Given the description of an element on the screen output the (x, y) to click on. 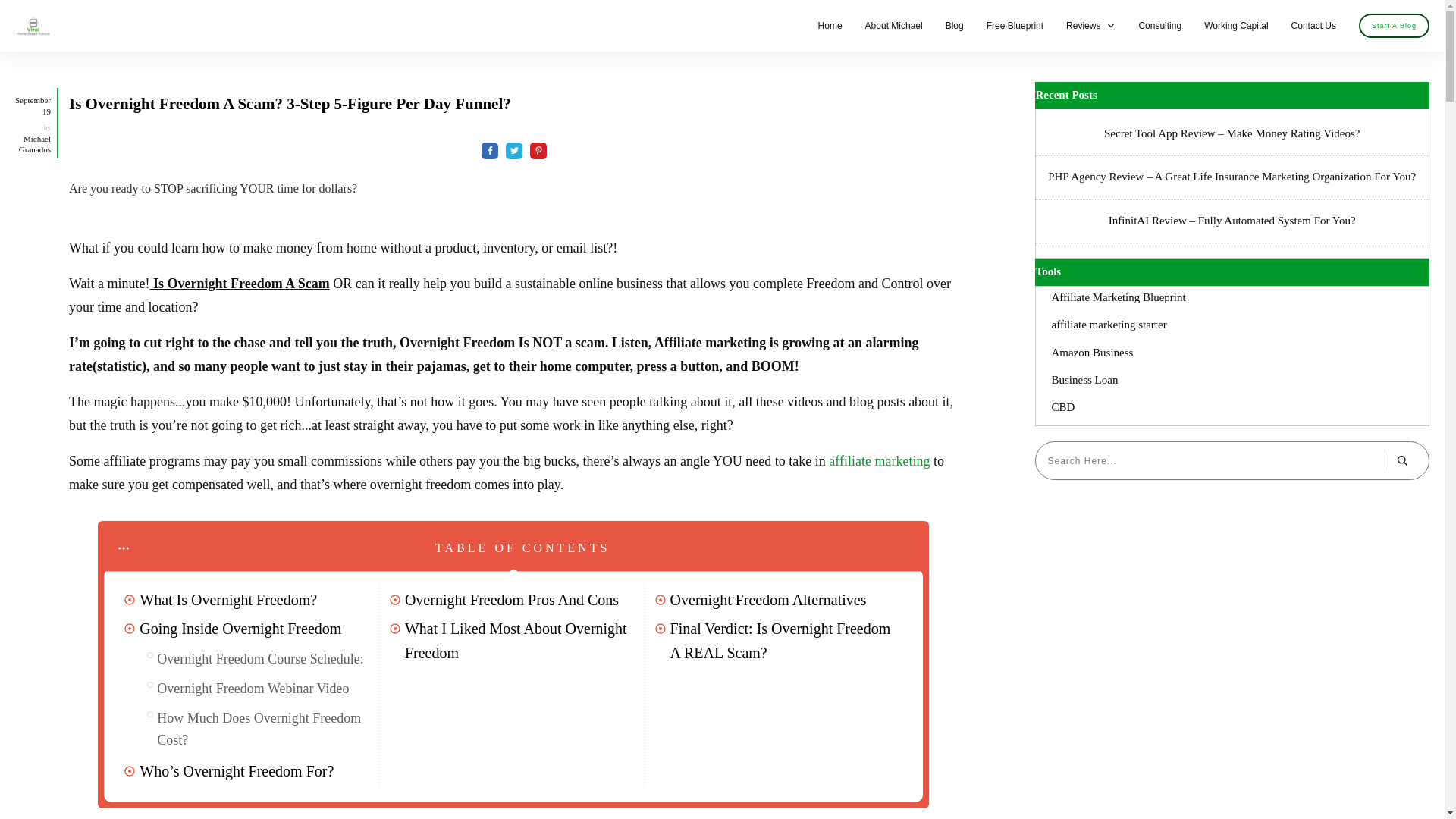
Working Capital (1236, 25)
Overnight Freedom Webinar Video (253, 689)
What I Liked Most About Overnight Freedom (521, 640)
Home (830, 25)
Overnight Freedom Pros And Cons (511, 599)
Final Verdict: Is Overnight Freedom A REAL Scam? (786, 640)
Overnight Freedom Webinar Video (253, 689)
Blog (953, 25)
What I Liked Most About Overnight Freedom (521, 640)
Consulting (1159, 25)
